Given the description of an element on the screen output the (x, y) to click on. 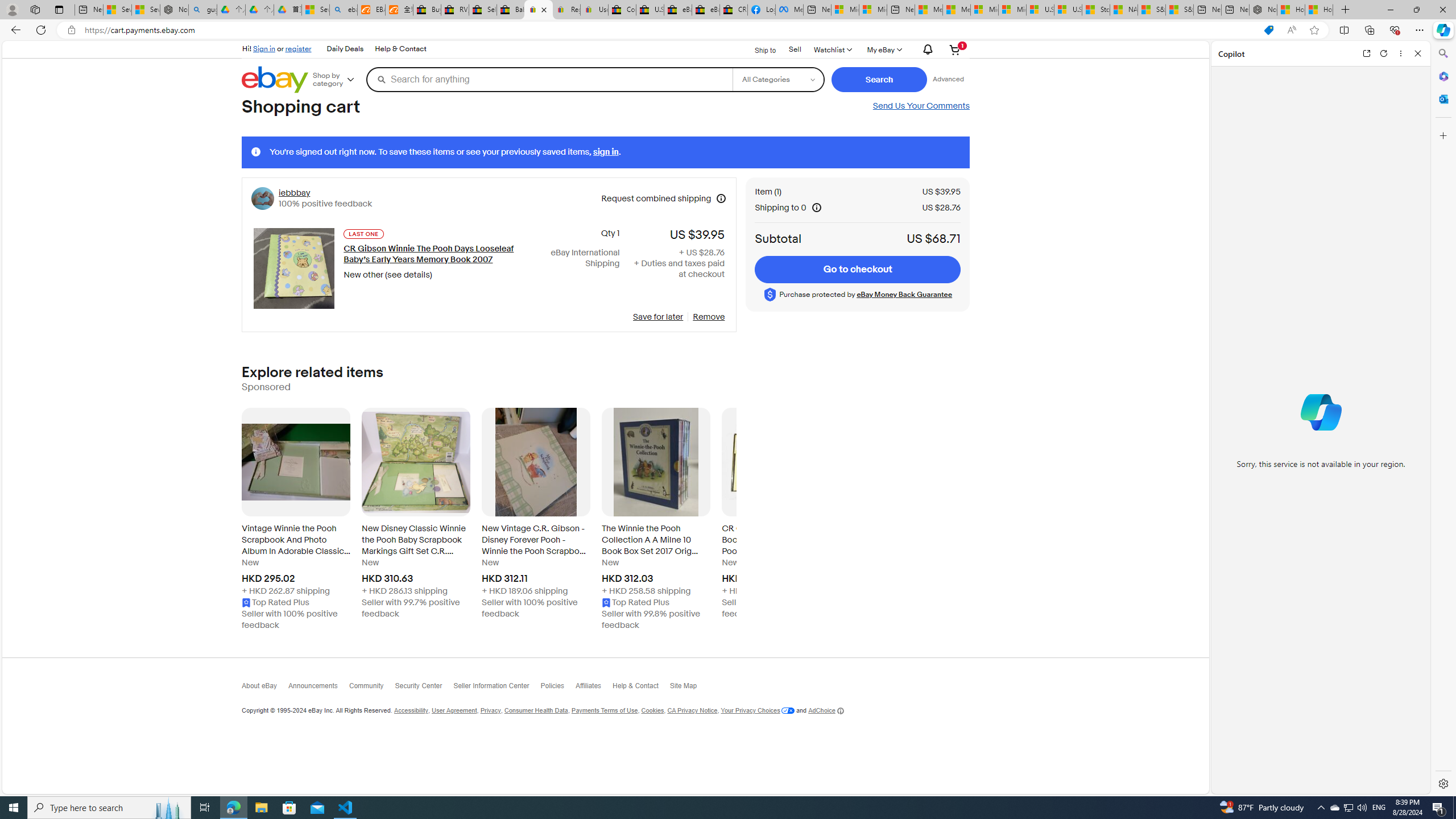
Information about requesting combined shipping from iebbbay (721, 197)
Meta Store (789, 9)
Site Map (689, 688)
User Privacy Notice | eBay (593, 9)
My eBay (883, 49)
Security Center (424, 688)
Payments Terms of Use (603, 710)
Settings (1442, 783)
